Given the description of an element on the screen output the (x, y) to click on. 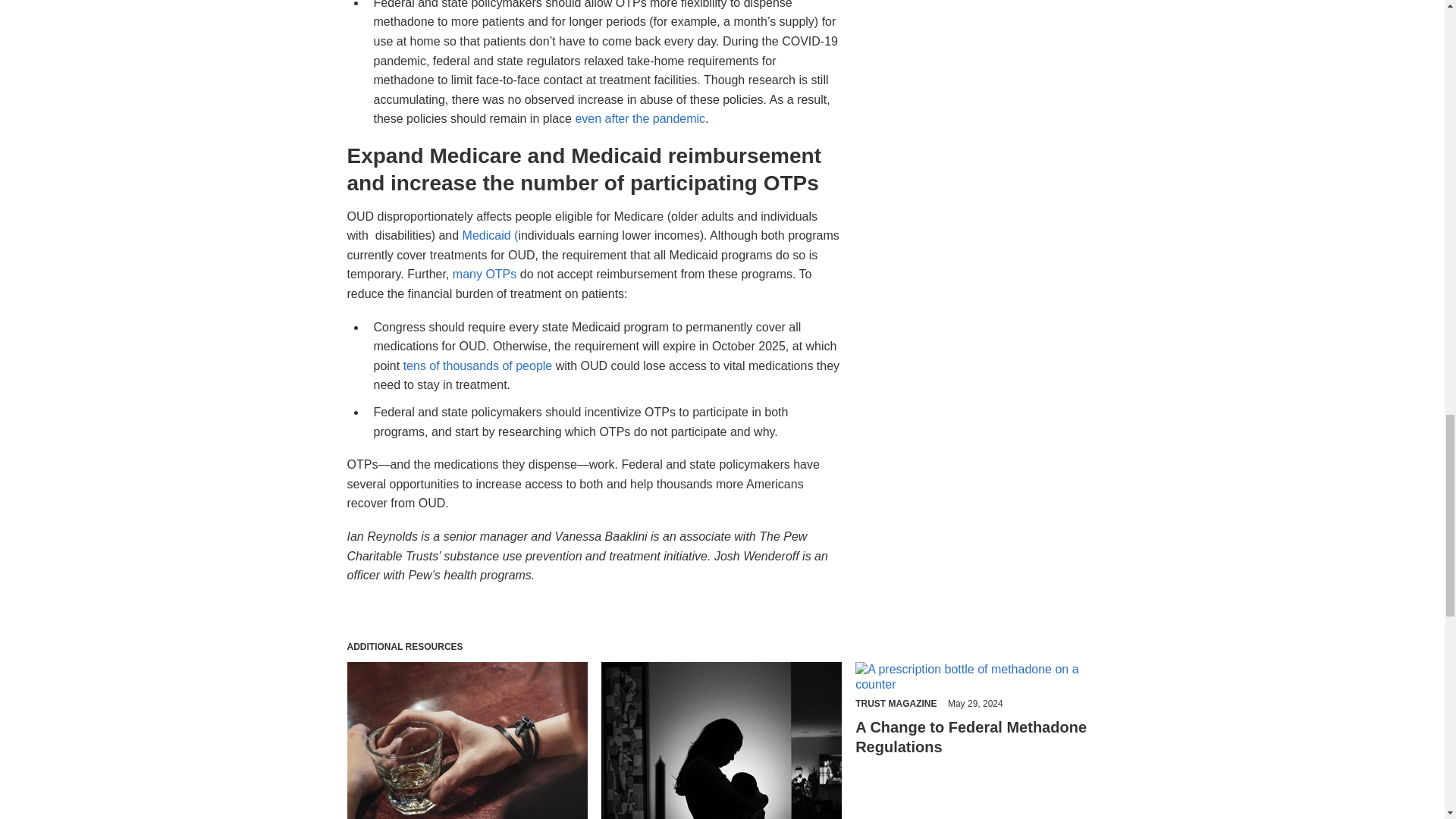
A prescription bottle of methadone on a counter (976, 676)
